Given the description of an element on the screen output the (x, y) to click on. 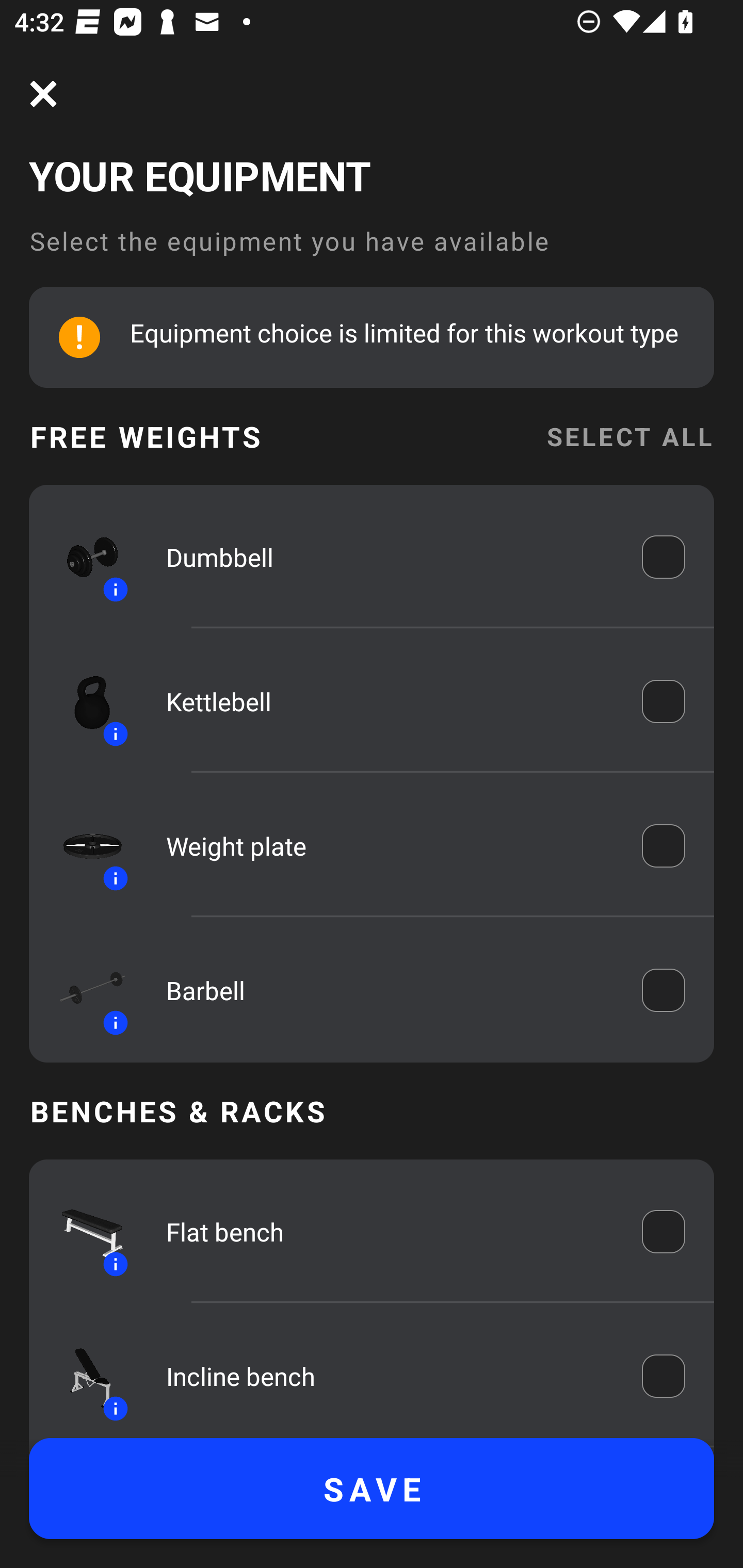
Navigation icon (43, 93)
SELECT ALL (629, 436)
Equipment icon Information icon (82, 557)
Dumbbell (389, 557)
Equipment icon Information icon (82, 701)
Kettlebell (389, 701)
Equipment icon Information icon (82, 845)
Weight plate (389, 845)
Equipment icon Information icon (82, 990)
Barbell (389, 990)
Equipment icon Information icon (82, 1231)
Flat bench (389, 1231)
Equipment icon Information icon (82, 1375)
Incline bench (389, 1375)
SAVE (371, 1488)
